Given the description of an element on the screen output the (x, y) to click on. 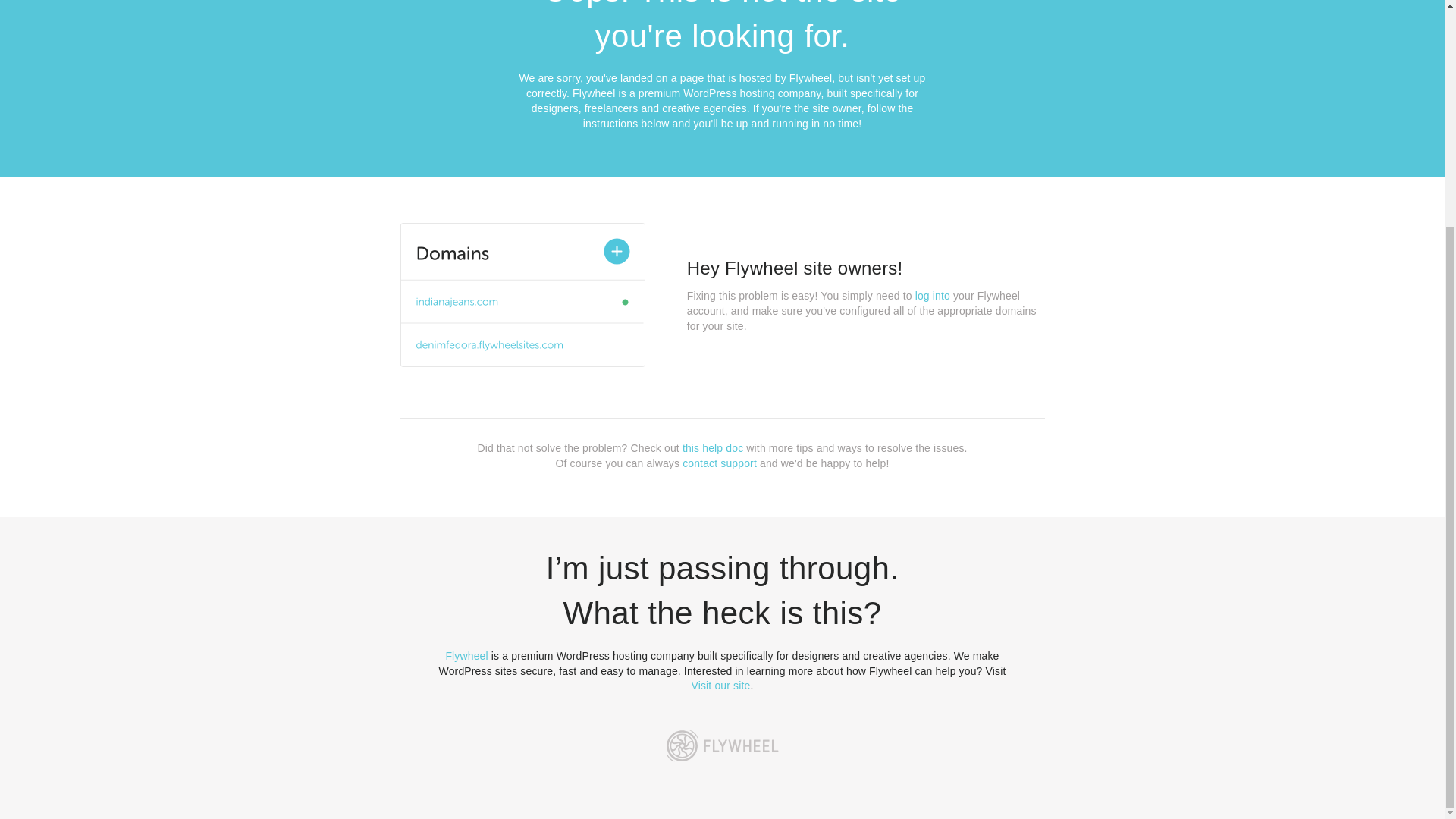
Flywheel (466, 655)
contact support (719, 463)
log into (932, 295)
this help doc (712, 448)
Visit our site (721, 685)
